Given the description of an element on the screen output the (x, y) to click on. 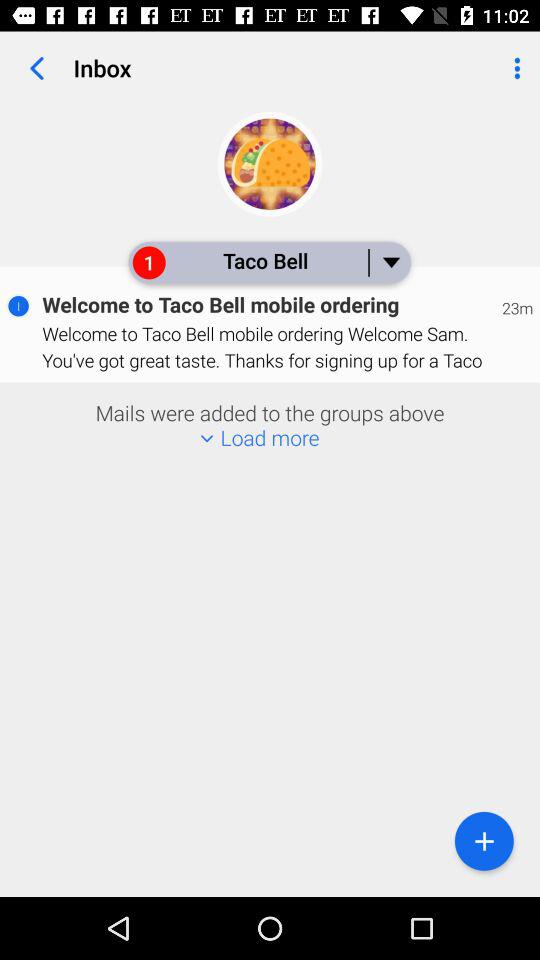
click icon to the right of inbox (513, 67)
